Given the description of an element on the screen output the (x, y) to click on. 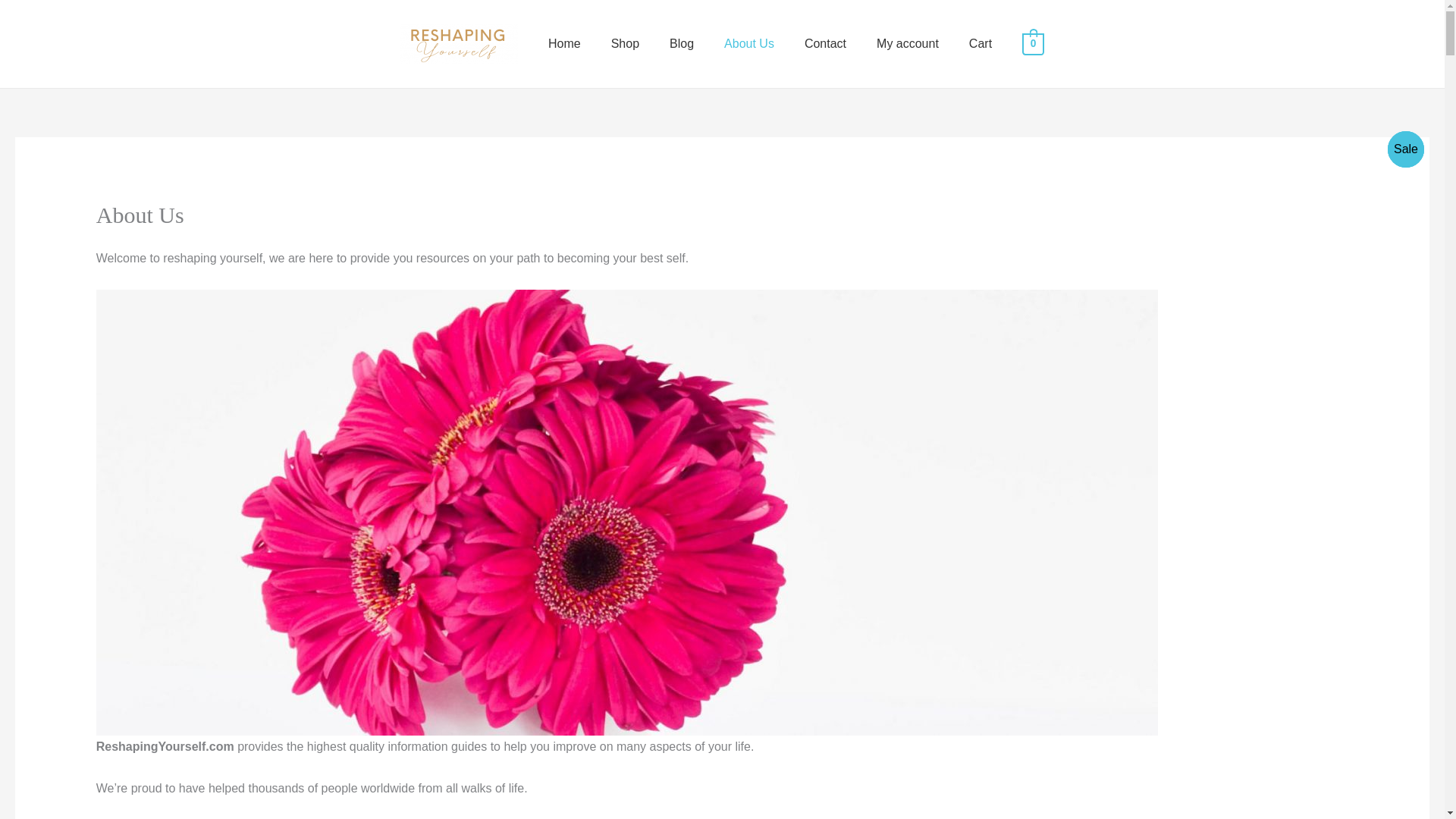
About Us (749, 43)
View your shopping cart (1032, 42)
Cart (980, 43)
My account (907, 43)
Contact (825, 43)
Blog (681, 43)
Home (563, 43)
0 (1032, 42)
Shop (624, 43)
